Given the description of an element on the screen output the (x, y) to click on. 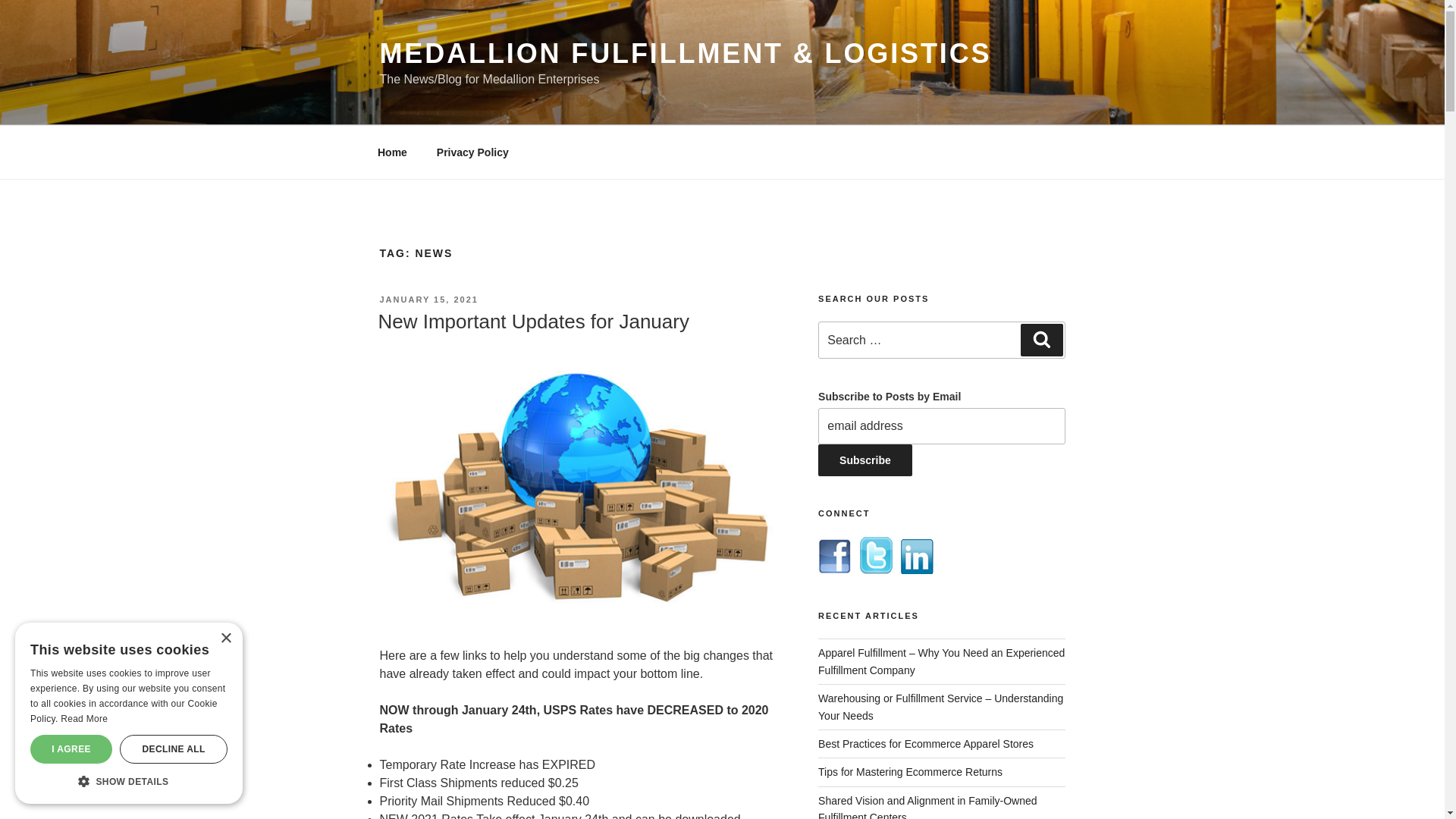
JANUARY 15, 2021 (427, 298)
Privacy Policy (472, 151)
New Important Updates for January (532, 321)
Best Practices for Ecommerce Apparel Stores (925, 743)
Subscribe (865, 459)
Subscribe (865, 459)
Search (1041, 339)
Home (392, 151)
Tips for Mastering Ecommerce Returns (910, 771)
